Given the description of an element on the screen output the (x, y) to click on. 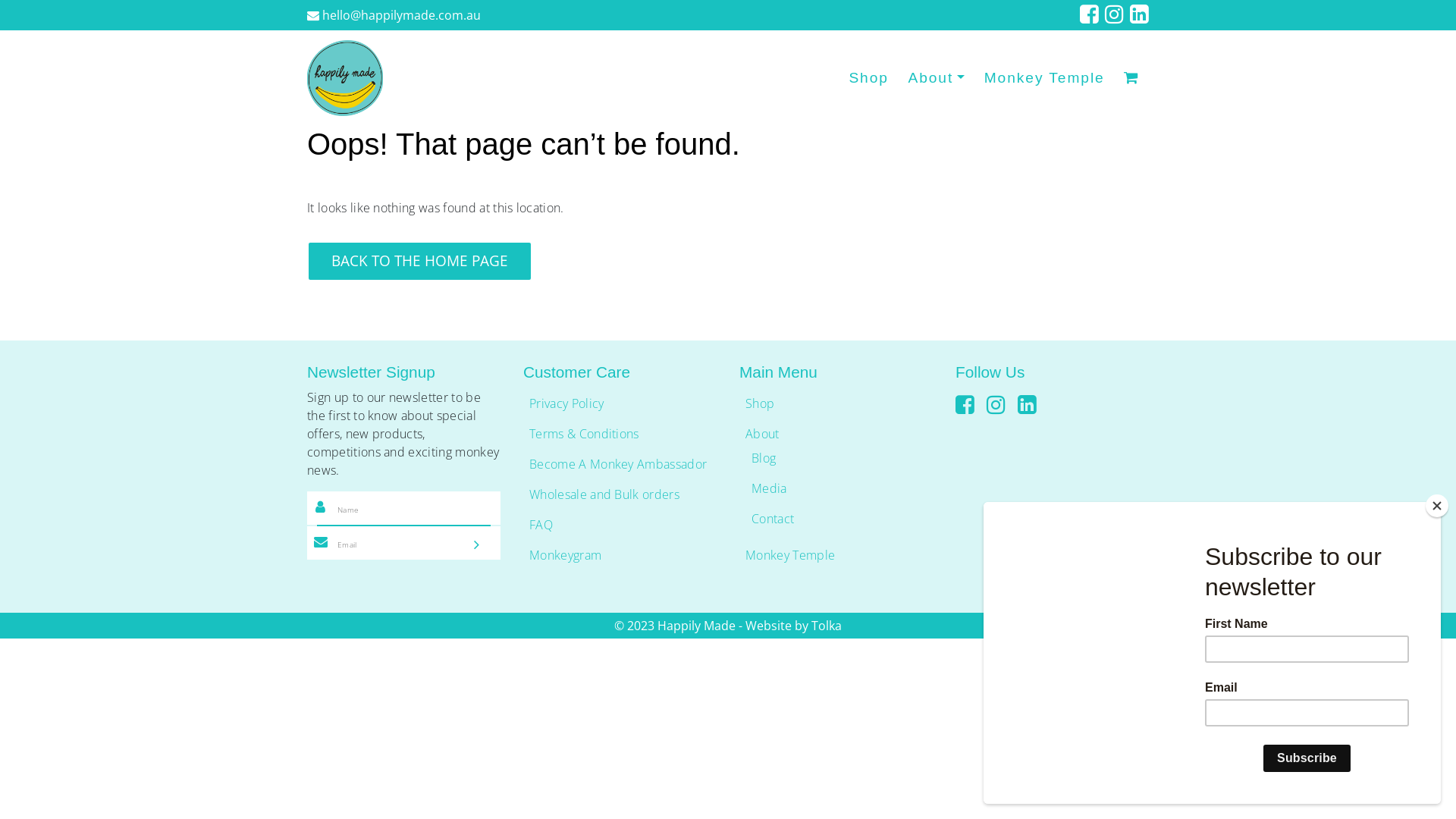
Wholesale and Bulk orders Element type: text (604, 494)
About Element type: text (762, 433)
Monkeygram Element type: text (565, 554)
BACK TO THE HOME PAGE Element type: text (419, 261)
Subscribe Element type: text (486, 546)
Blog Element type: text (763, 457)
Media Element type: text (769, 488)
About Element type: text (936, 78)
hello@happilymade.com.au Element type: text (393, 14)
Contact Element type: text (772, 518)
Monkey Temple Element type: text (789, 554)
FAQ Element type: text (540, 524)
View your shopping cart Element type: hover (1130, 78)
Shop Element type: text (759, 403)
Tolka Element type: text (826, 625)
Monkey Temple Element type: text (1044, 78)
Shop Element type: text (868, 78)
Become A Monkey Ambassador Element type: text (617, 463)
Terms & Conditions Element type: text (584, 433)
Privacy Policy Element type: text (566, 403)
